Given the description of an element on the screen output the (x, y) to click on. 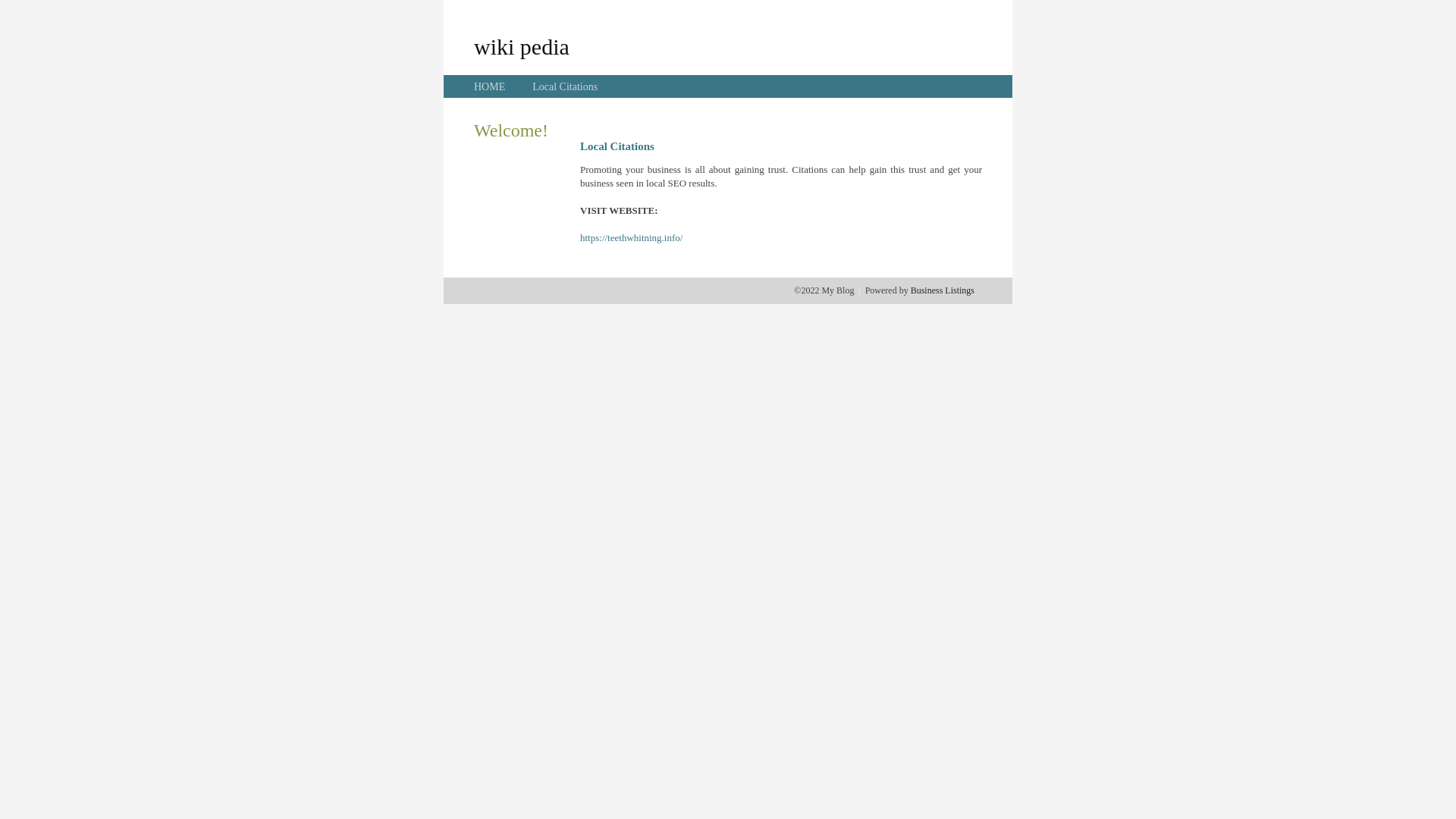
HOME Element type: text (489, 86)
https://teethwhitning.info/ Element type: text (631, 237)
Local Citations Element type: text (564, 86)
Business Listings Element type: text (942, 290)
wiki pedia Element type: text (521, 46)
